Given the description of an element on the screen output the (x, y) to click on. 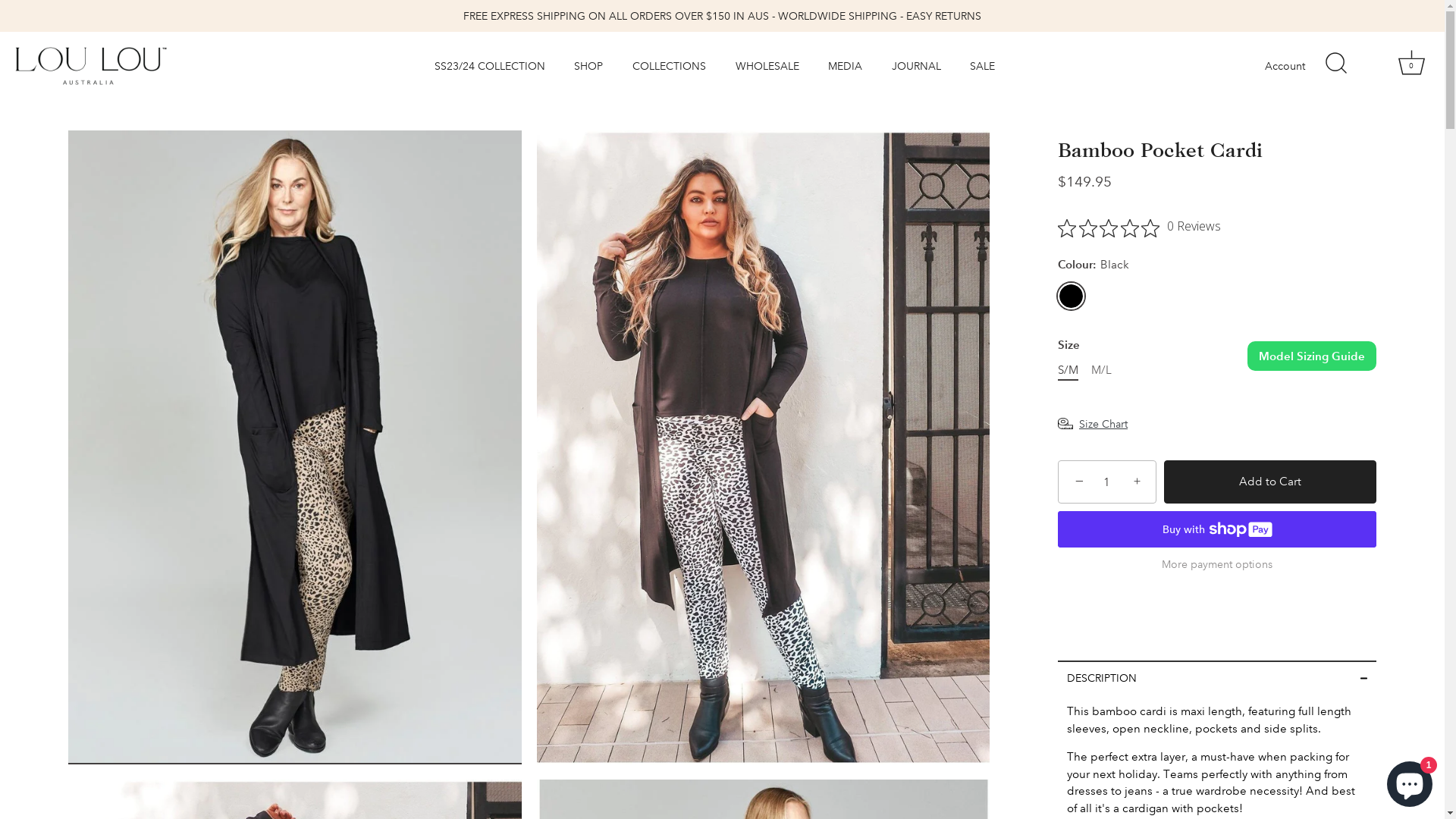
JOURNAL Element type: text (915, 66)
WHOLESALE Element type: text (766, 66)
+ Element type: text (1138, 481)
Black Element type: text (1070, 295)
Shopify online store chat Element type: hover (1409, 780)
M/L Element type: text (1100, 369)
More payment options Element type: text (1216, 564)
Cart
0 Element type: text (1410, 65)
SS23/24 COLLECTION Element type: text (489, 66)
Account Element type: text (1297, 66)
Size Chart Element type: text (1092, 423)
SHOP Element type: text (588, 66)
COLLECTIONS Element type: text (669, 66)
SALE Element type: text (982, 66)
S/M Element type: text (1067, 369)
Model Sizing Guide Element type: text (1311, 355)
MEDIA Element type: text (845, 66)
Add to Cart Element type: text (1270, 481)
